Given the description of an element on the screen output the (x, y) to click on. 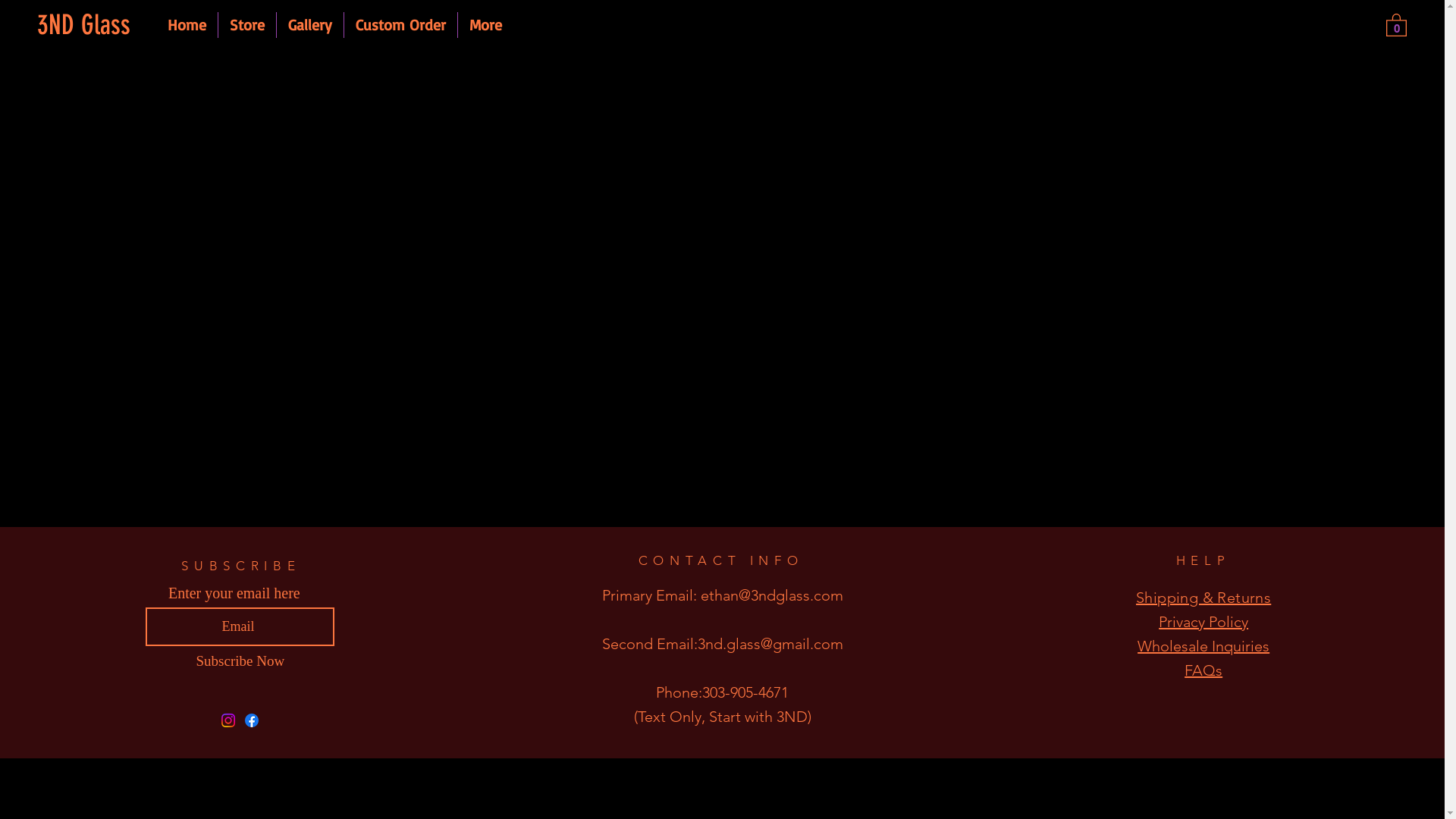
Store Element type: text (247, 24)
0 Element type: text (1396, 24)
Subscribe Now Element type: text (239, 661)
3nd.glass@gmail.com Element type: text (770, 643)
Shipping & Returns Element type: text (1202, 597)
ethan@3ndglass.com Element type: text (771, 595)
Custom Order Element type: text (400, 24)
Privacy Policy Element type: text (1203, 621)
Home Element type: text (186, 24)
3ND Glass Element type: text (89, 25)
FAQs Element type: text (1203, 670)
Wholesale Inquiries Element type: text (1203, 646)
Gallery Element type: text (309, 24)
